Given the description of an element on the screen output the (x, y) to click on. 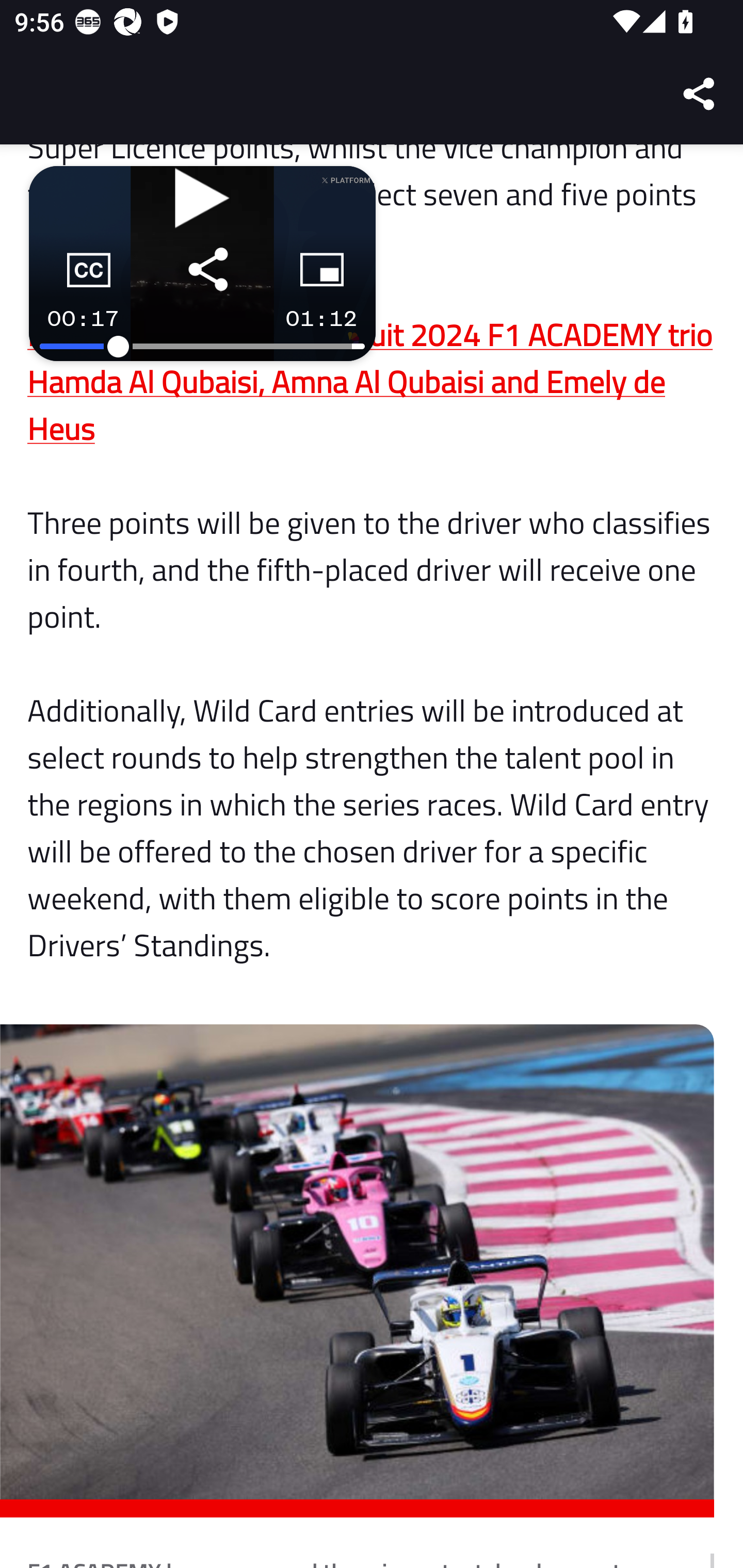
Share (699, 93)
